Given the description of an element on the screen output the (x, y) to click on. 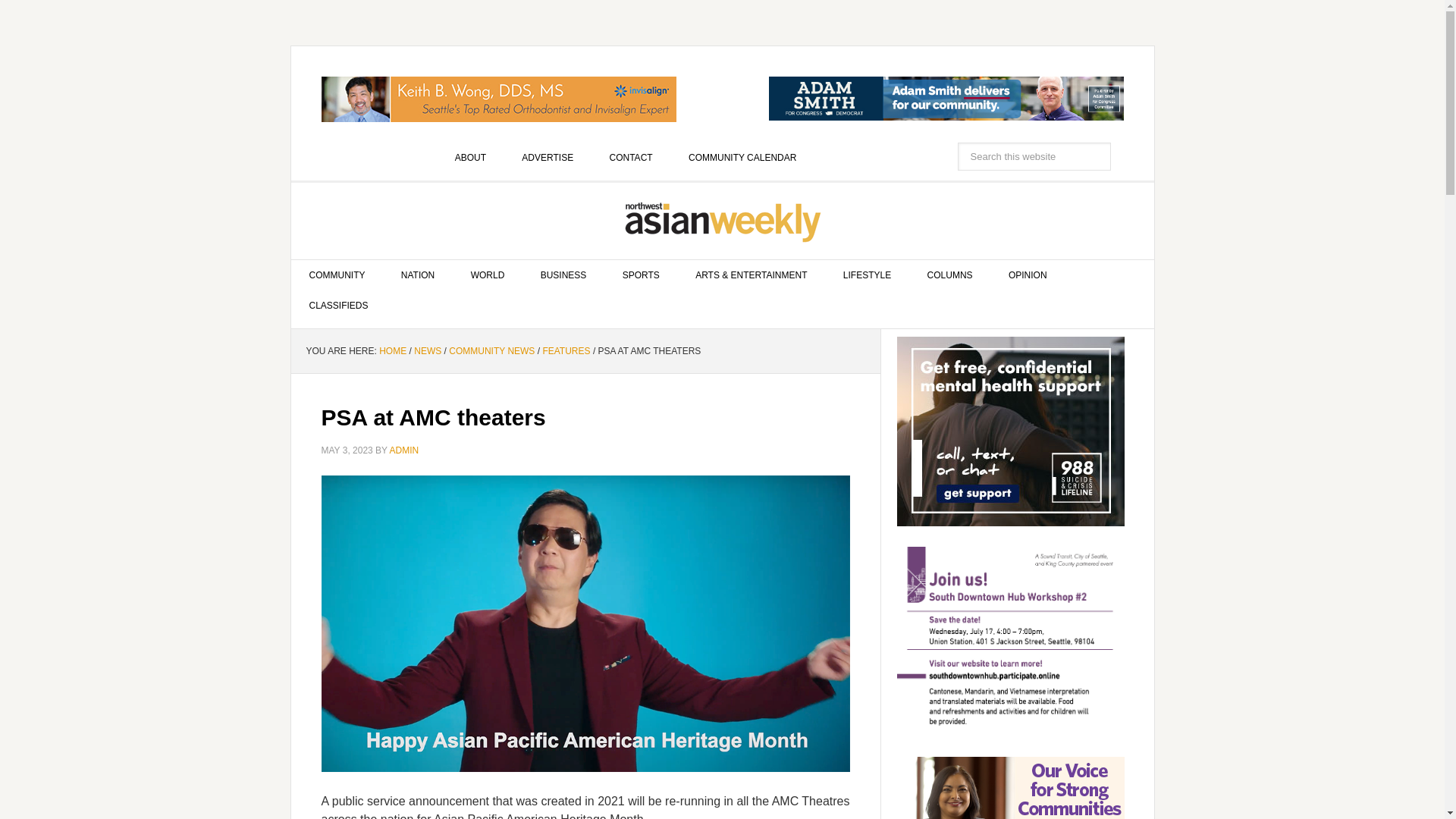
CONTACT (631, 157)
COLUMNS (949, 275)
BUSINESS (563, 275)
LIFESTYLE (866, 275)
SPORTS (641, 275)
HOME (392, 350)
WORLD (487, 275)
NATION (417, 275)
ABOUT (469, 157)
OPINION (1027, 275)
COMMUNITY CALENDAR (741, 157)
ADVERTISE (547, 157)
NEWS (427, 350)
